Given the description of an element on the screen output the (x, y) to click on. 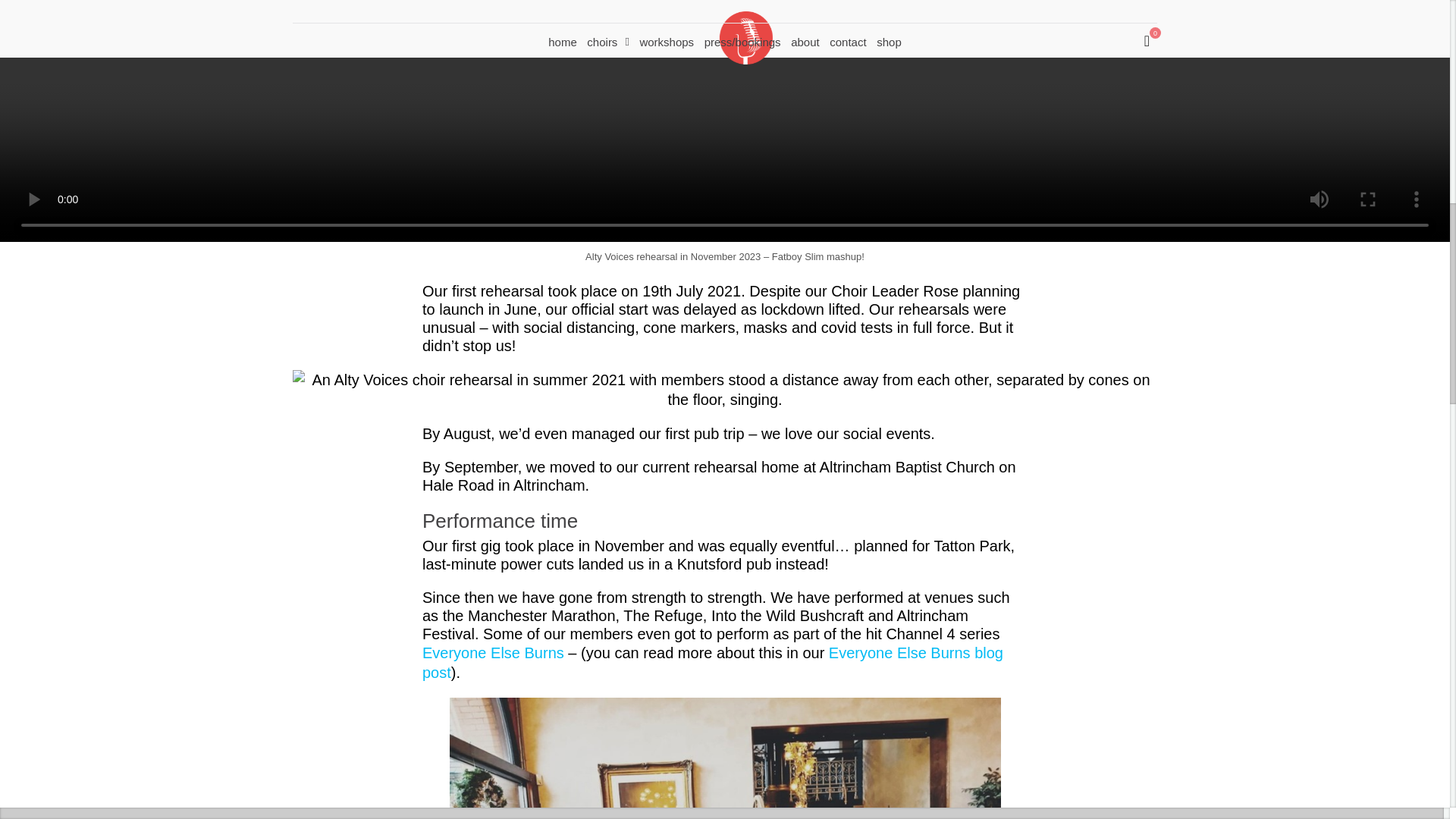
Everyone Else Burns (493, 652)
Everyone Else Burns blog post (712, 662)
